Given the description of an element on the screen output the (x, y) to click on. 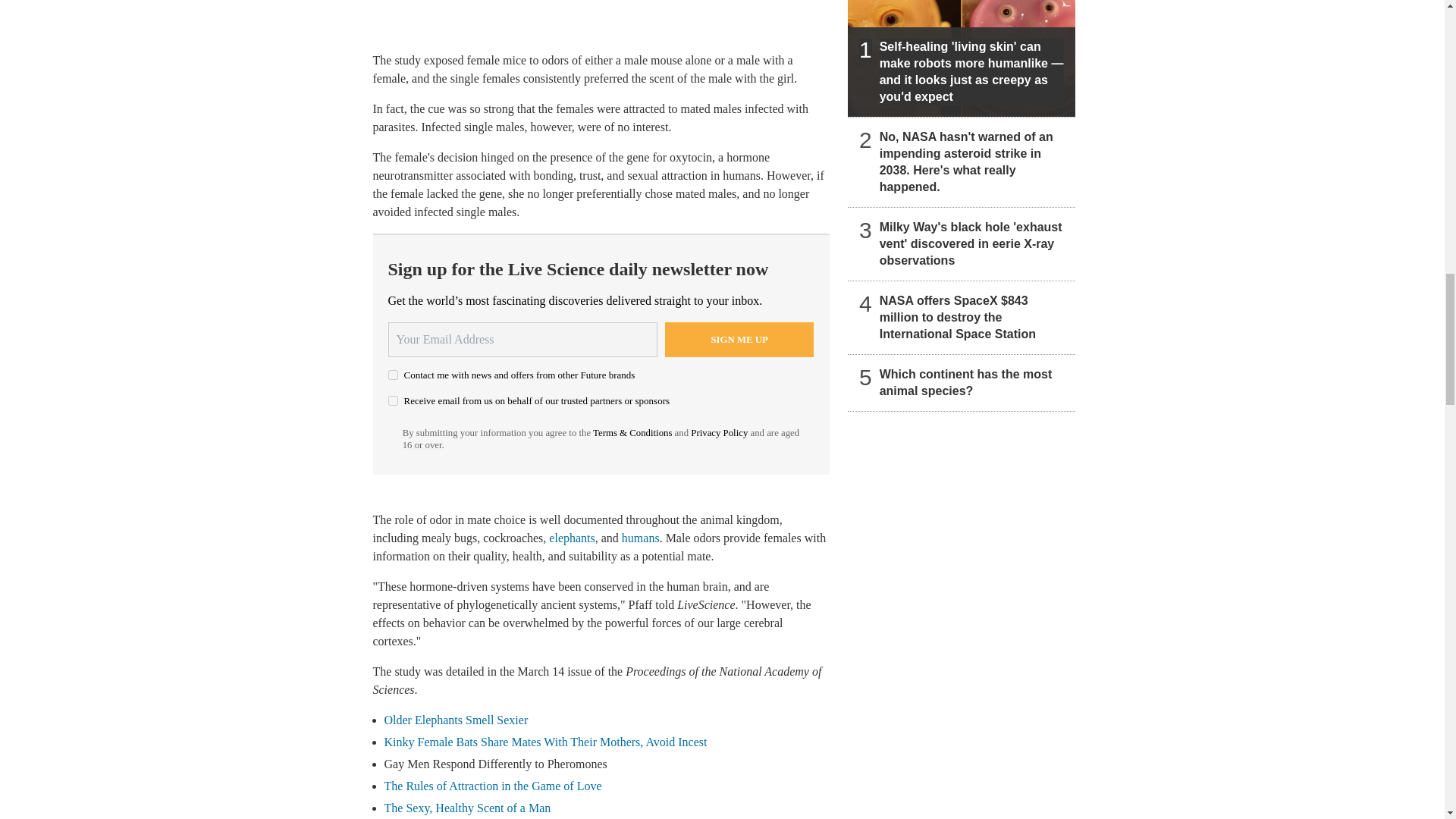
on (392, 400)
on (392, 375)
Sign me up (739, 339)
